Given the description of an element on the screen output the (x, y) to click on. 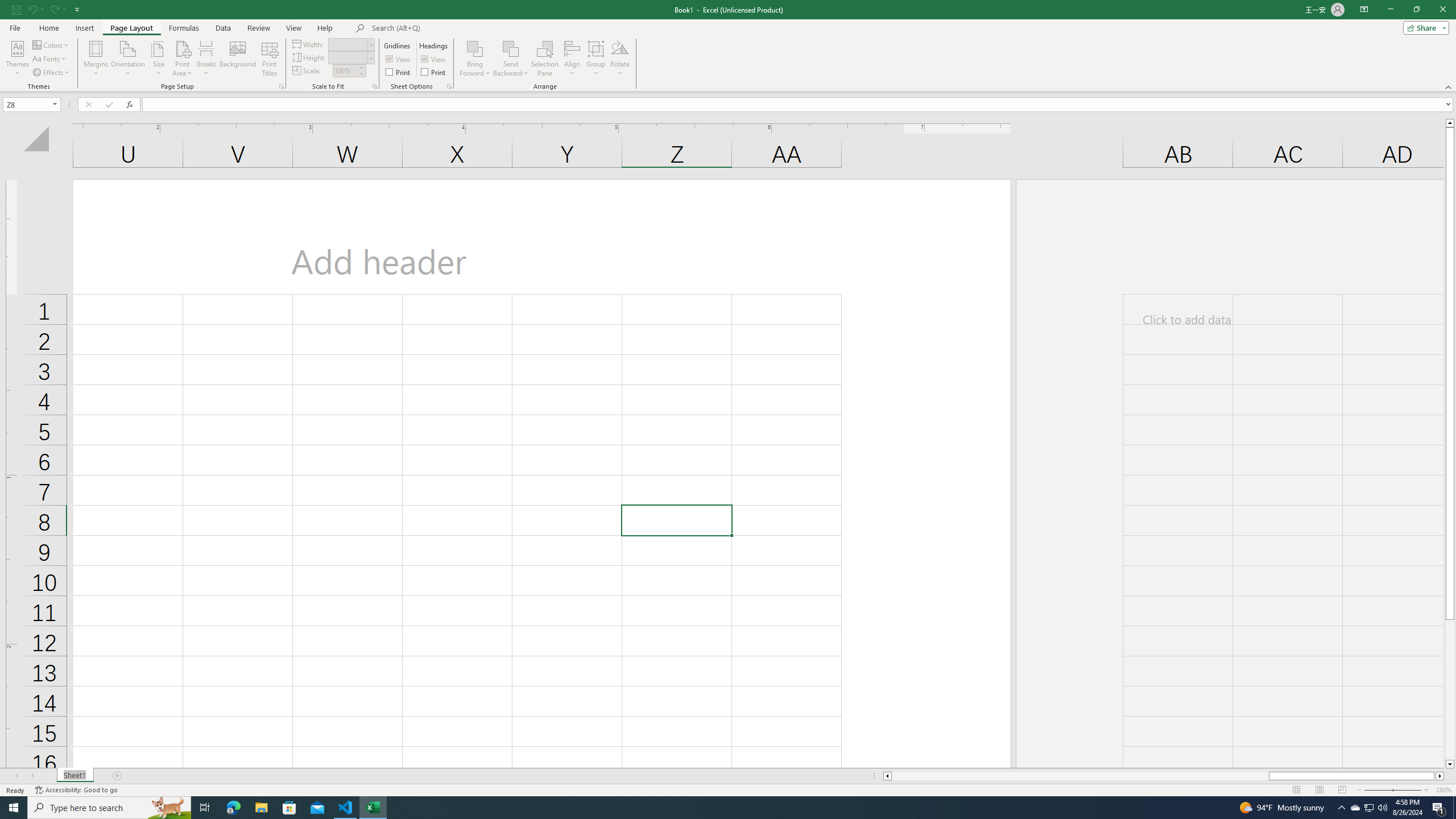
Redo (53, 9)
Print Titles (269, 58)
Size (158, 58)
Orientation (128, 58)
Scroll Left (16, 775)
Zoom Out (1385, 790)
Formula Bar (798, 104)
Add Sheet (117, 775)
Height (350, 56)
Height (347, 57)
Selection Pane... (544, 58)
Home (48, 28)
Sheet Tab (74, 775)
Column left (886, 775)
